Given the description of an element on the screen output the (x, y) to click on. 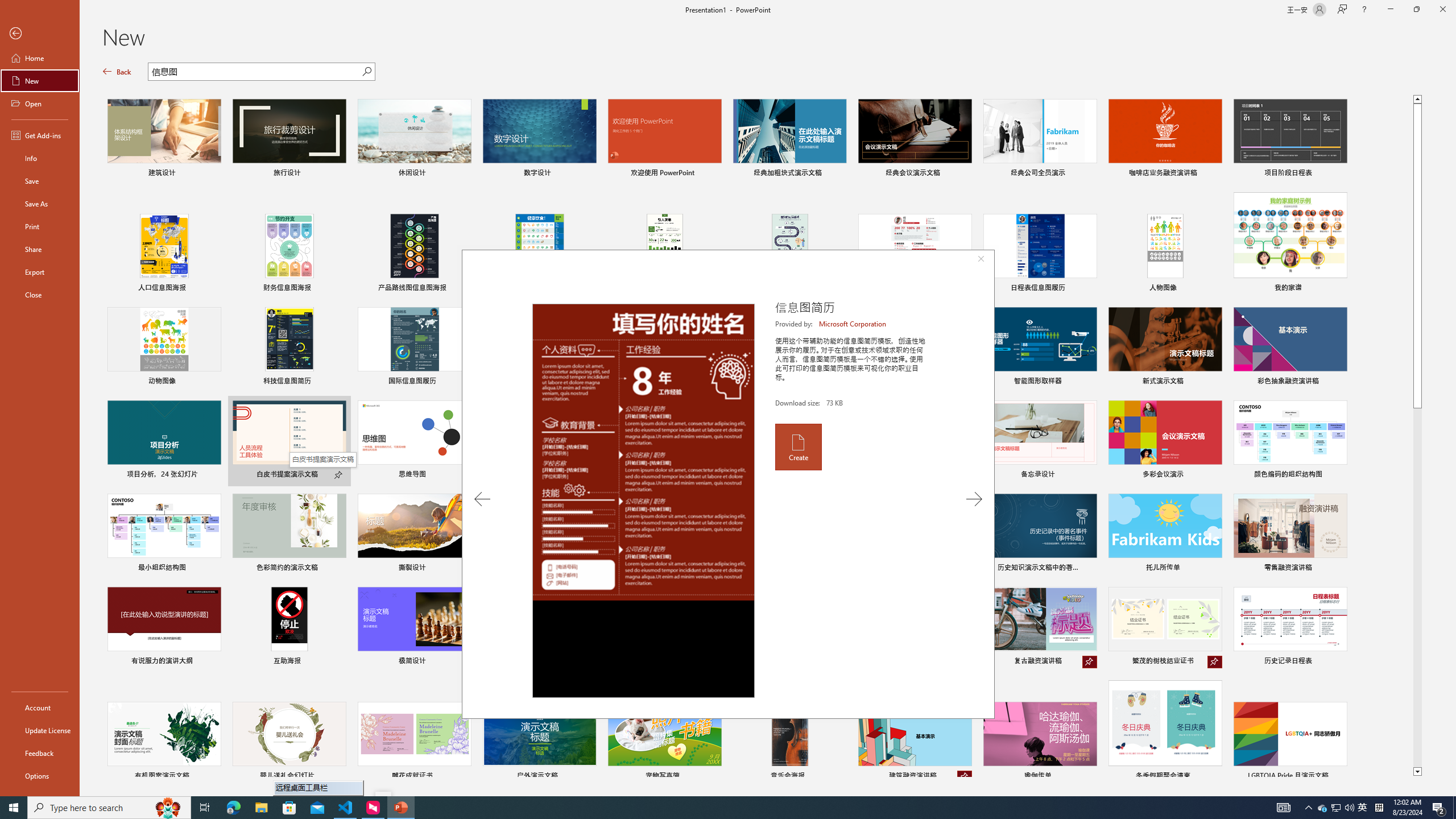
Microsoft Corporation (853, 323)
Back (40, 33)
Back (117, 71)
Next Template (974, 499)
Feedback (40, 753)
Line down (1417, 772)
